Given the description of an element on the screen output the (x, y) to click on. 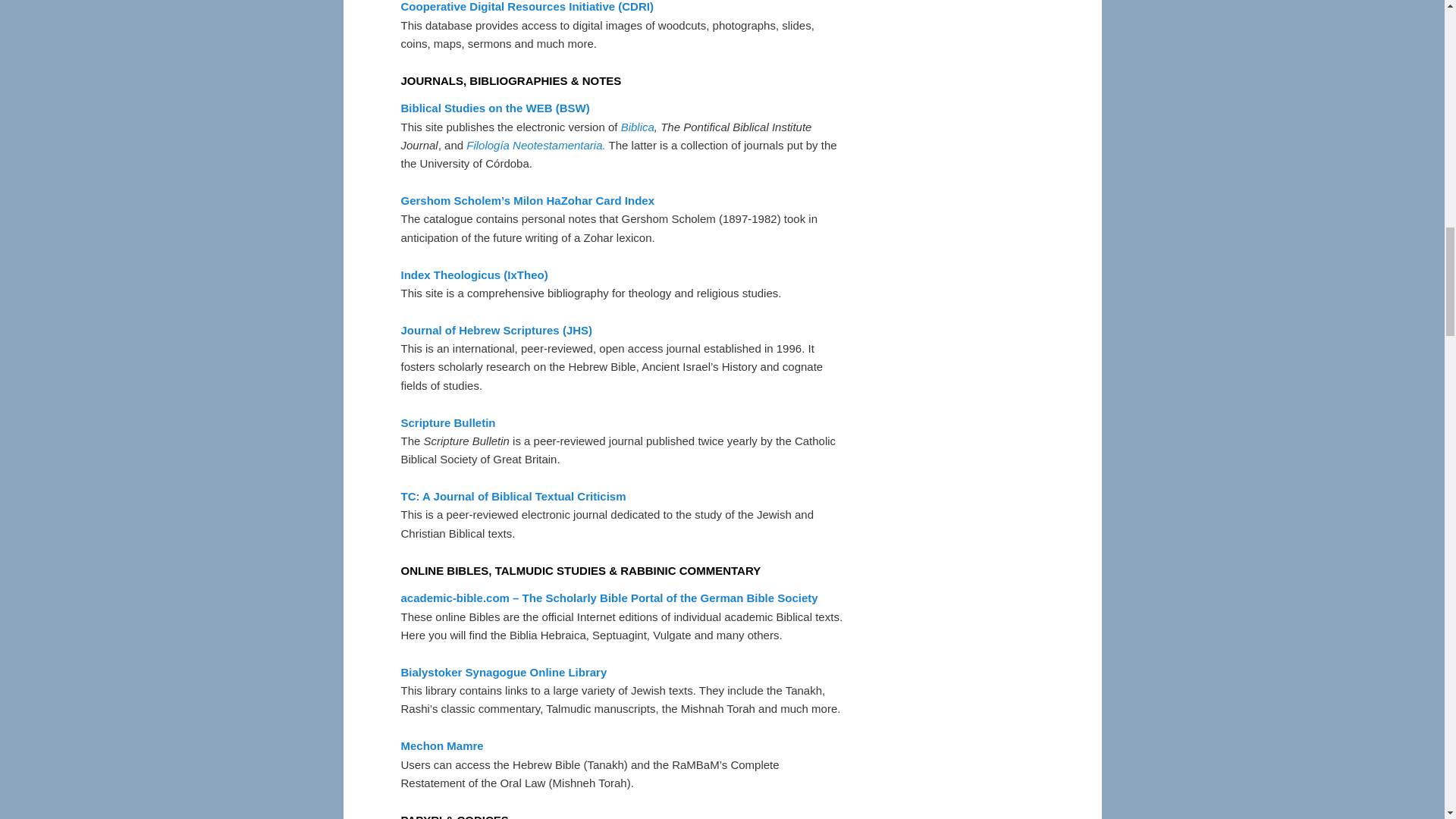
TC: A Journal of Biblical Textual Criticism (513, 495)
Scripture Bulletin (447, 422)
Bialystoker Synagogue Online Library (503, 671)
Mechon Mamre (441, 745)
Biblica (637, 126)
Index Theologicus (473, 274)
